Given the description of an element on the screen output the (x, y) to click on. 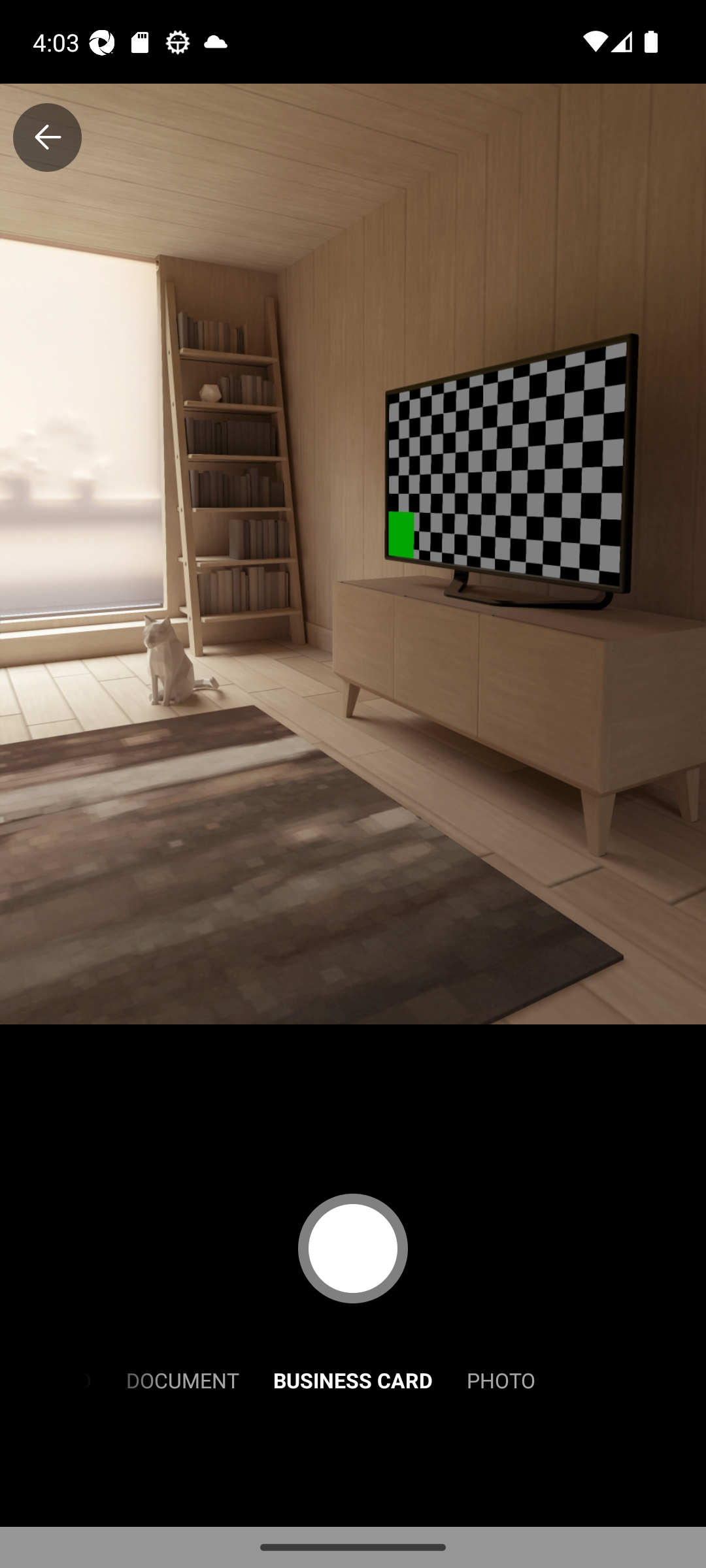
Close (47, 137)
Capture (352, 1248)
DOCUMENT (182, 1379)
BUSINESS CARD (352, 1379)
PHOTO (501, 1379)
